Given the description of an element on the screen output the (x, y) to click on. 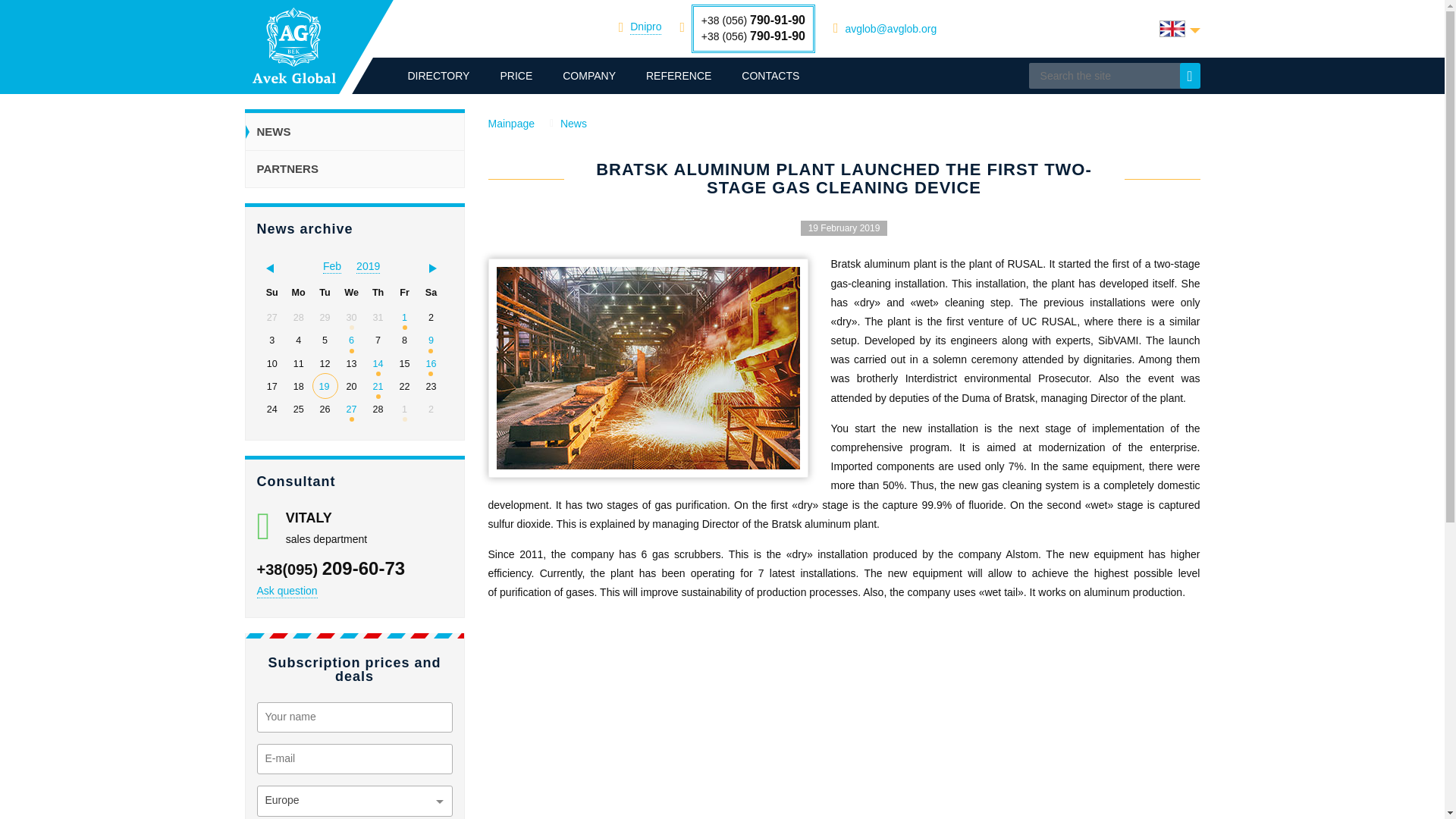
Monday (298, 292)
JSC "Zavod Uzbekhimmash" took on a new investment project (351, 340)
Tuesday (324, 292)
Prev (265, 266)
Next (436, 266)
DIRECTORY (438, 75)
Thursday (378, 292)
Friday (403, 292)
Saturday (430, 292)
2019 (368, 266)
Wednesday (350, 292)
Sunday (272, 292)
Dnipro (645, 26)
